Given the description of an element on the screen output the (x, y) to click on. 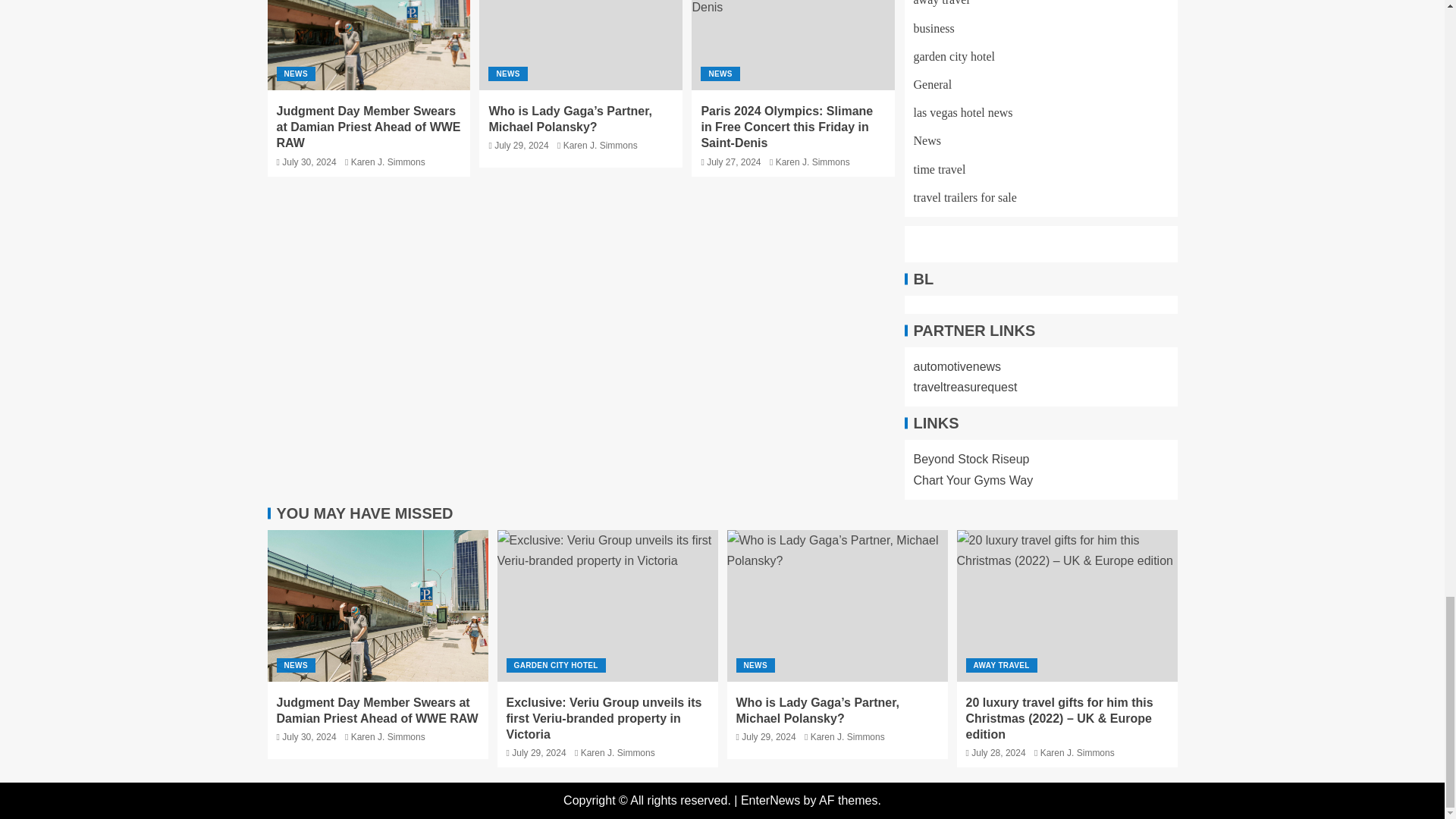
Judgment Day Member Swears at Damian Priest Ahead of WWE RAW (376, 605)
Judgment Day Member Swears at Damian Priest Ahead of WWE RAW (368, 45)
